Given the description of an element on the screen output the (x, y) to click on. 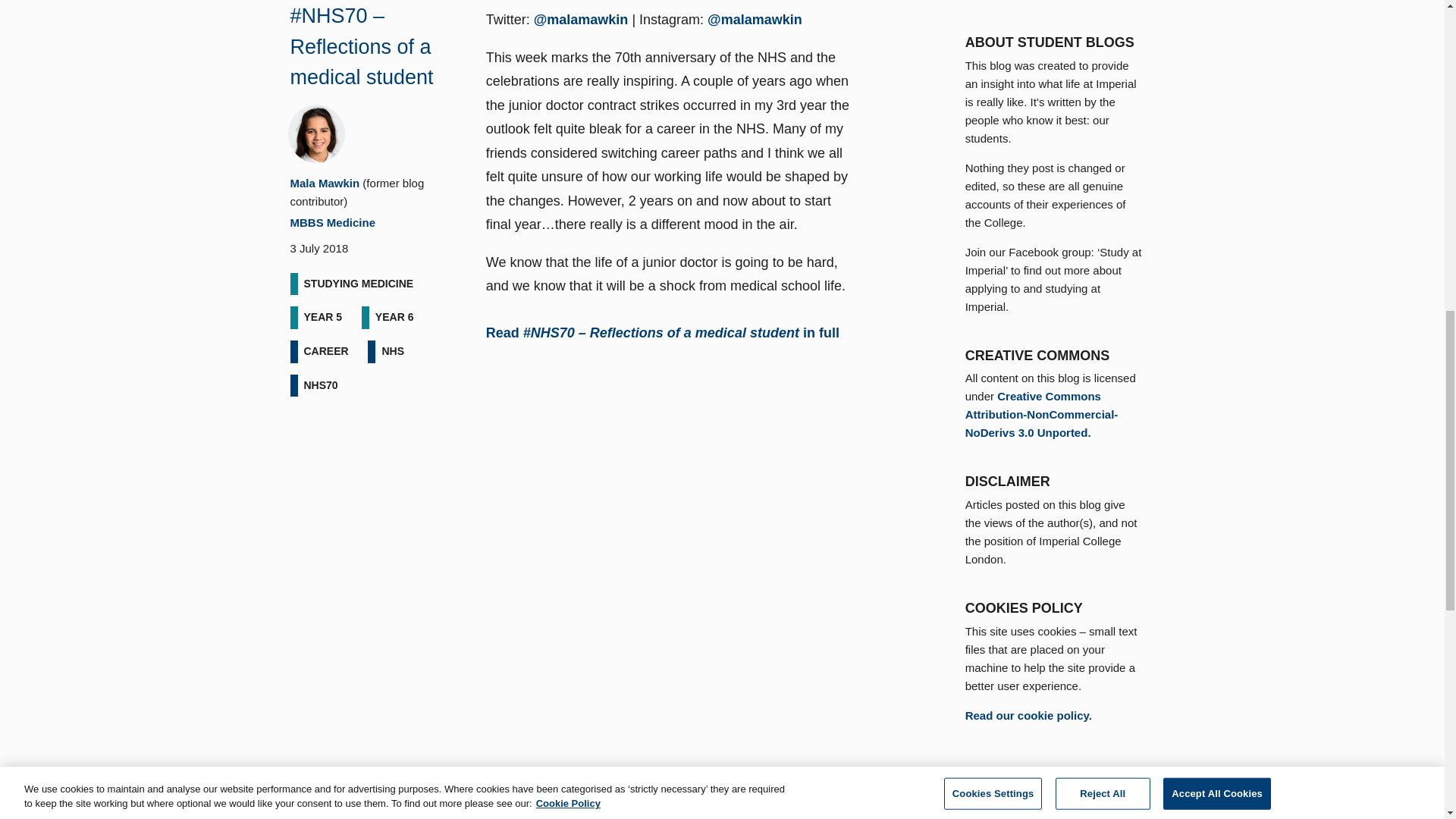
Mala Mawkin (324, 182)
View all posts in NHS (392, 351)
NHS (392, 351)
YEAR 6 (394, 317)
View all posts in Year 6 (394, 317)
View all posts in Year 5 (322, 317)
CAREER (325, 351)
STUDYING MEDICINE (358, 283)
NHS70 (320, 385)
View all posts in nhs70 (320, 385)
YEAR 5 (322, 317)
View all posts in career (325, 351)
MBBS Medicine (332, 222)
View all posts in studying medicine (358, 283)
